Given the description of an element on the screen output the (x, y) to click on. 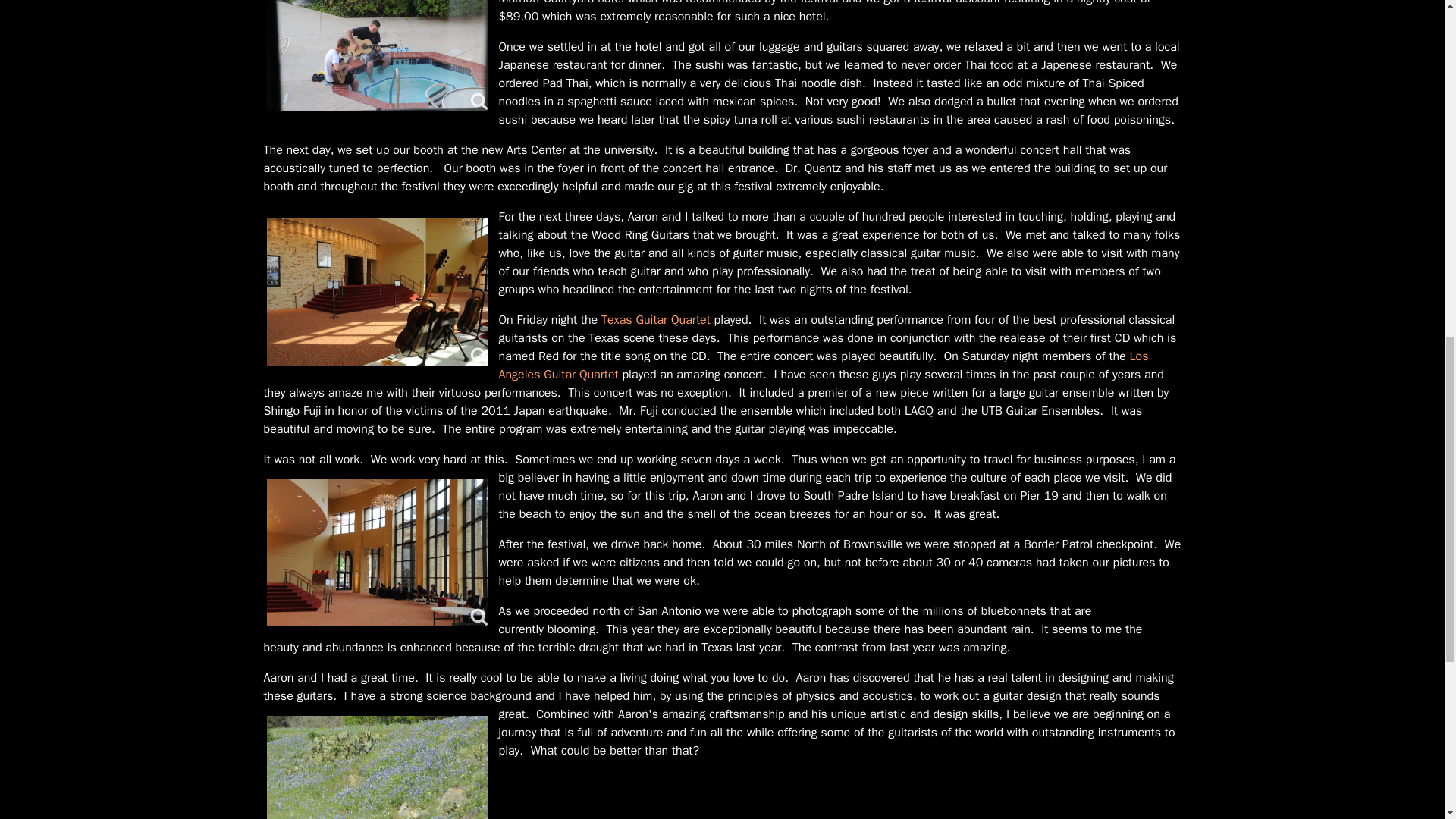
Texas Guitar Quartet (655, 319)
Arts Center Foyer of Auditorium (377, 552)
Texas Guitar Quartet (655, 319)
Los Angeles Guitar Quartet (823, 365)
9302-Bluebonnets and Cactus (377, 765)
Los Angeles Guitar Quartet (823, 365)
Guitar players practicing in the hot tub at the Hotel. (377, 56)
